Given the description of an element on the screen output the (x, y) to click on. 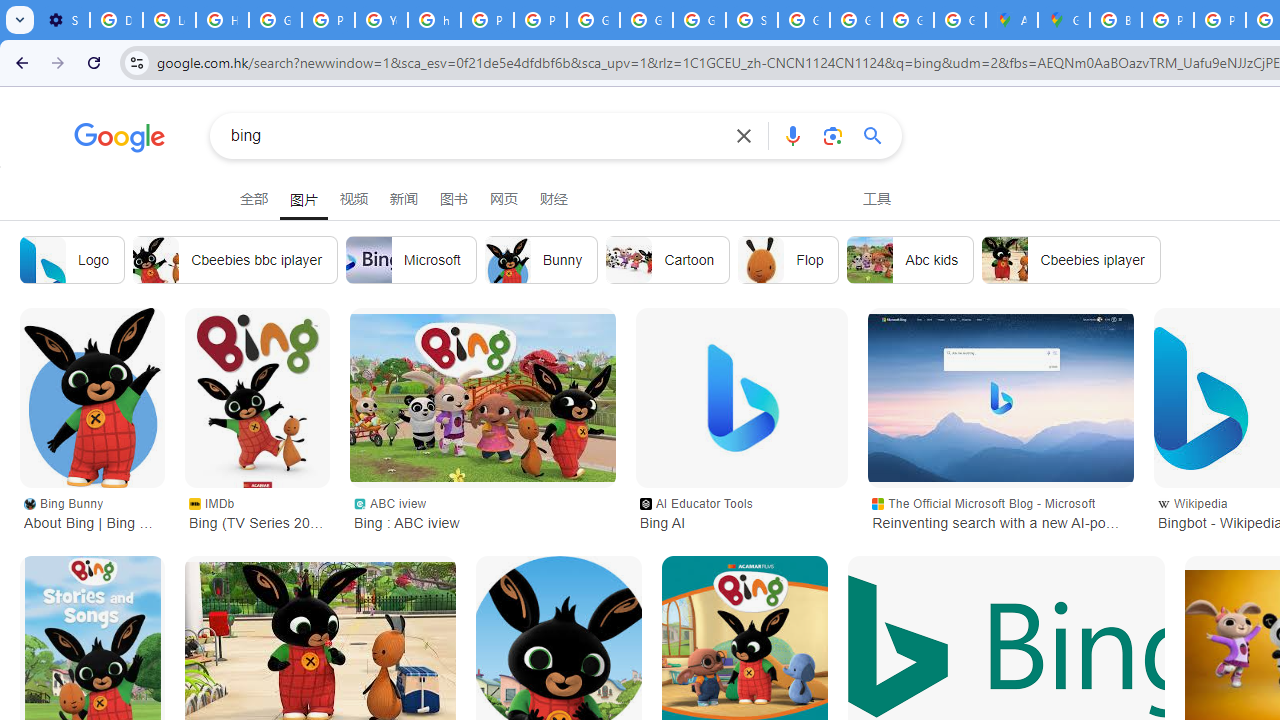
Privacy Help Center - Policies Help (328, 20)
Learn how to find your photos - Google Photos Help (169, 20)
Privacy Help Center - Policies Help (1167, 20)
Bing Mobile - Wikipedia (1005, 645)
Bing AI (741, 398)
